Given the description of an element on the screen output the (x, y) to click on. 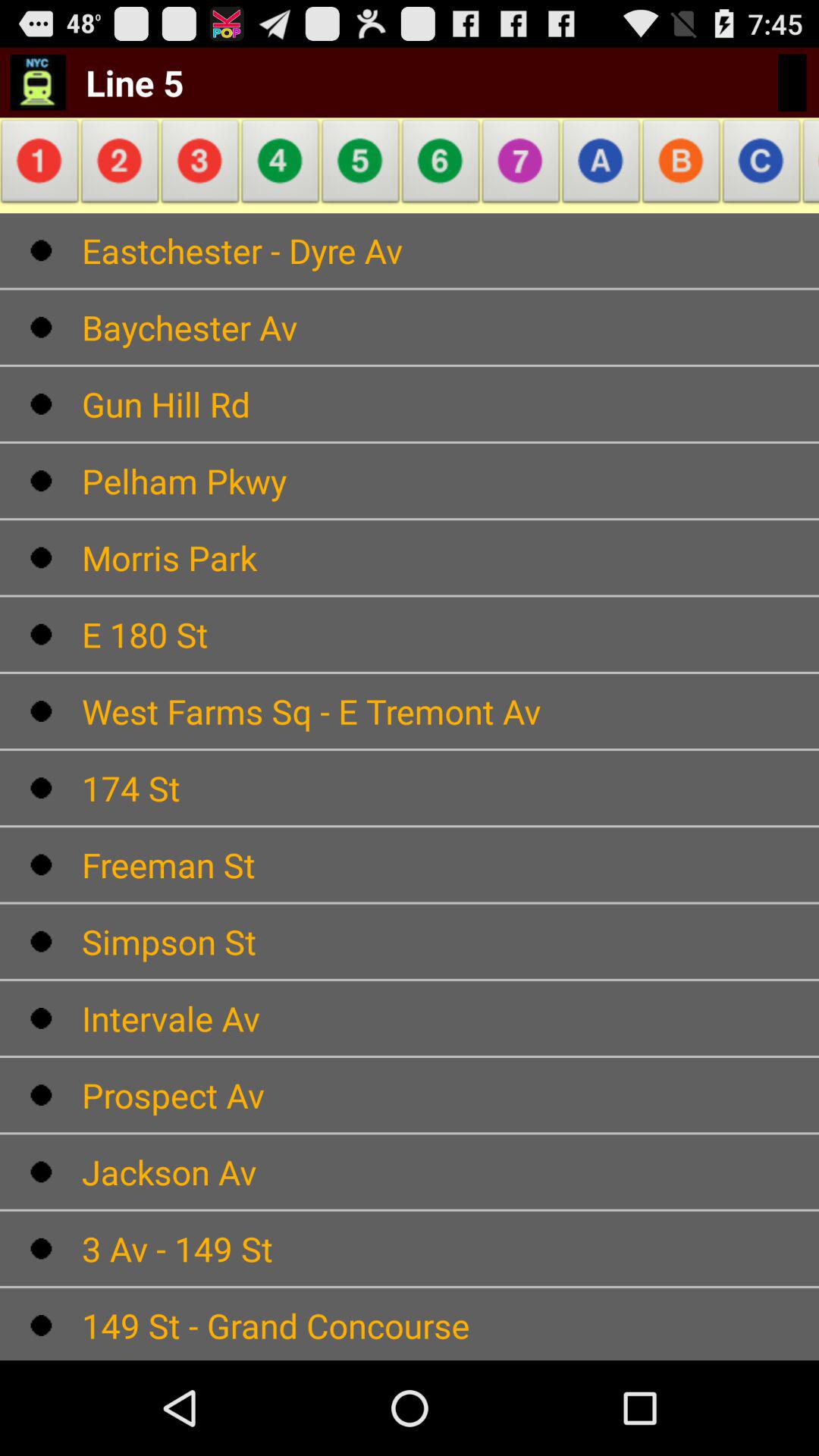
choose the app below the line 5 icon (120, 165)
